Given the description of an element on the screen output the (x, y) to click on. 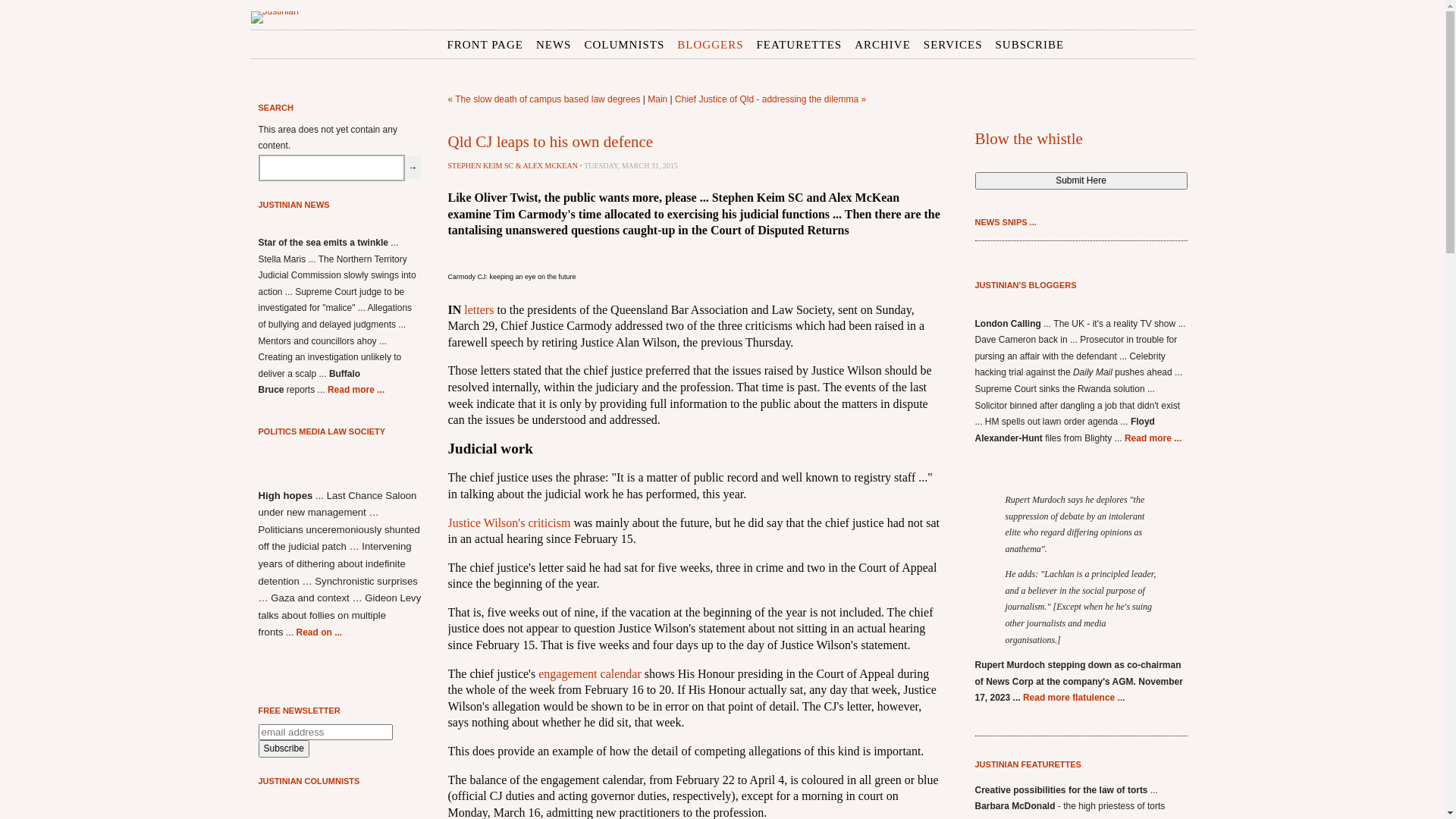
COLUMNISTS Element type: text (623, 44)
STEPHEN KEIM SC & ALEX MCKEAN Element type: text (512, 165)
Submit Here Element type: text (1081, 180)
Qld CJ leaps to his own defence Element type: text (549, 141)
NEWS Element type: text (553, 44)
Subscribe Element type: text (282, 748)
Read more flatulence ... Element type: text (1073, 697)
SERVICES Element type: text (952, 44)
Read on ... Element type: text (318, 632)
ARCHIVE Element type: text (882, 44)
engagement calendar Element type: text (589, 673)
Read more ... Element type: text (1152, 438)
Submit Here Element type: text (1081, 180)
Main Element type: text (657, 99)
FEATURETTES Element type: text (799, 44)
SUBSCRIBE Element type: text (1028, 44)
Justinian Element type: hover (274, 17)
Justice Wilson's criticism Element type: text (508, 521)
letters Element type: text (478, 309)
BLOGGERS Element type: text (710, 44)
Read more ... Element type: text (355, 389)
FRONT PAGE Element type: text (485, 44)
